Given the description of an element on the screen output the (x, y) to click on. 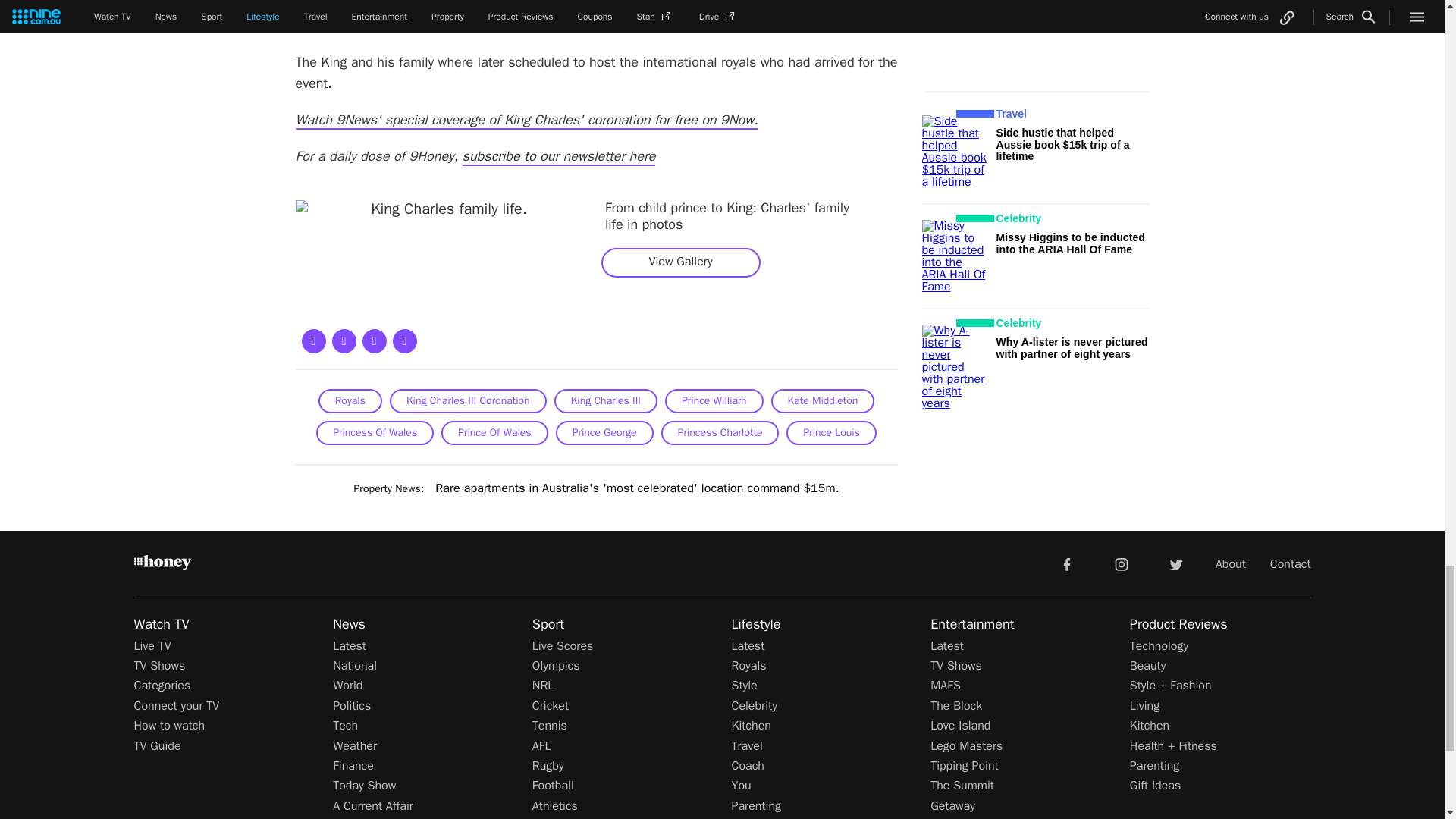
instagram (1121, 562)
twitter (1175, 562)
facebook (1066, 562)
